Given the description of an element on the screen output the (x, y) to click on. 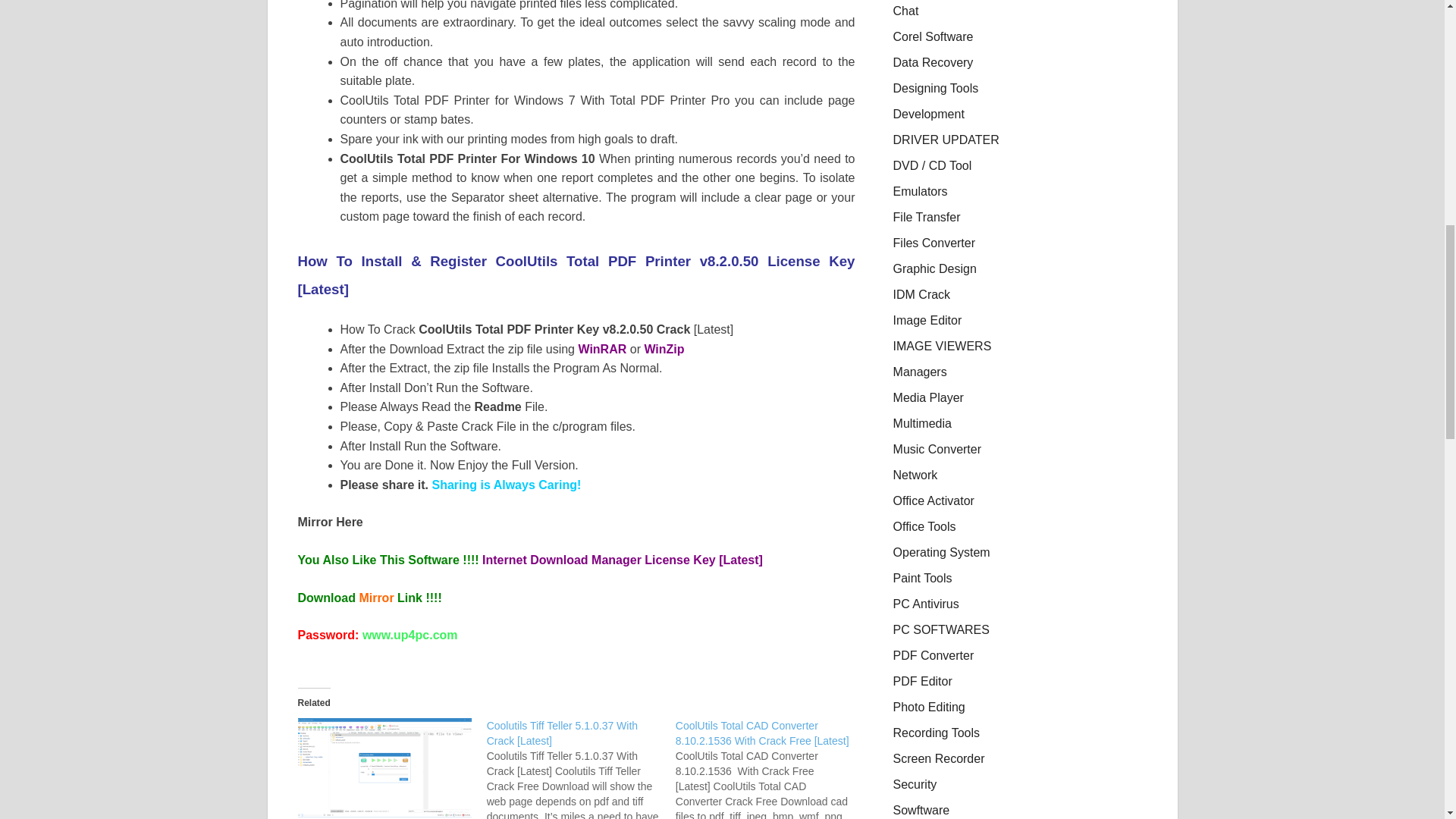
WinZip (663, 349)
WinZip (663, 349)
WinRAR (602, 349)
WinRAR (602, 349)
